Given the description of an element on the screen output the (x, y) to click on. 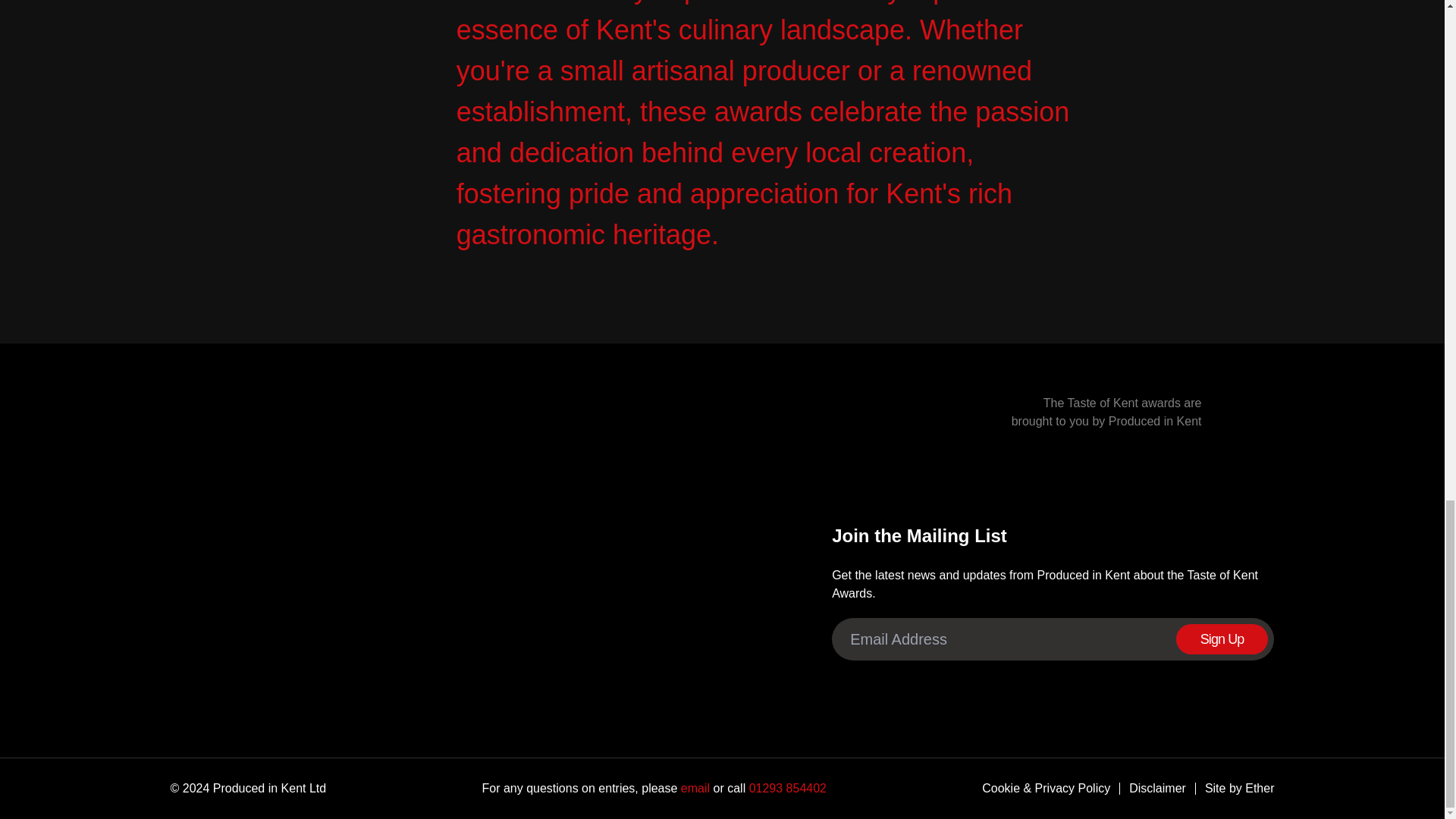
email (693, 788)
Disclaimer (1152, 788)
01293 854402 (786, 788)
Site by Ether (1235, 788)
Sign Up (1222, 639)
